Given the description of an element on the screen output the (x, y) to click on. 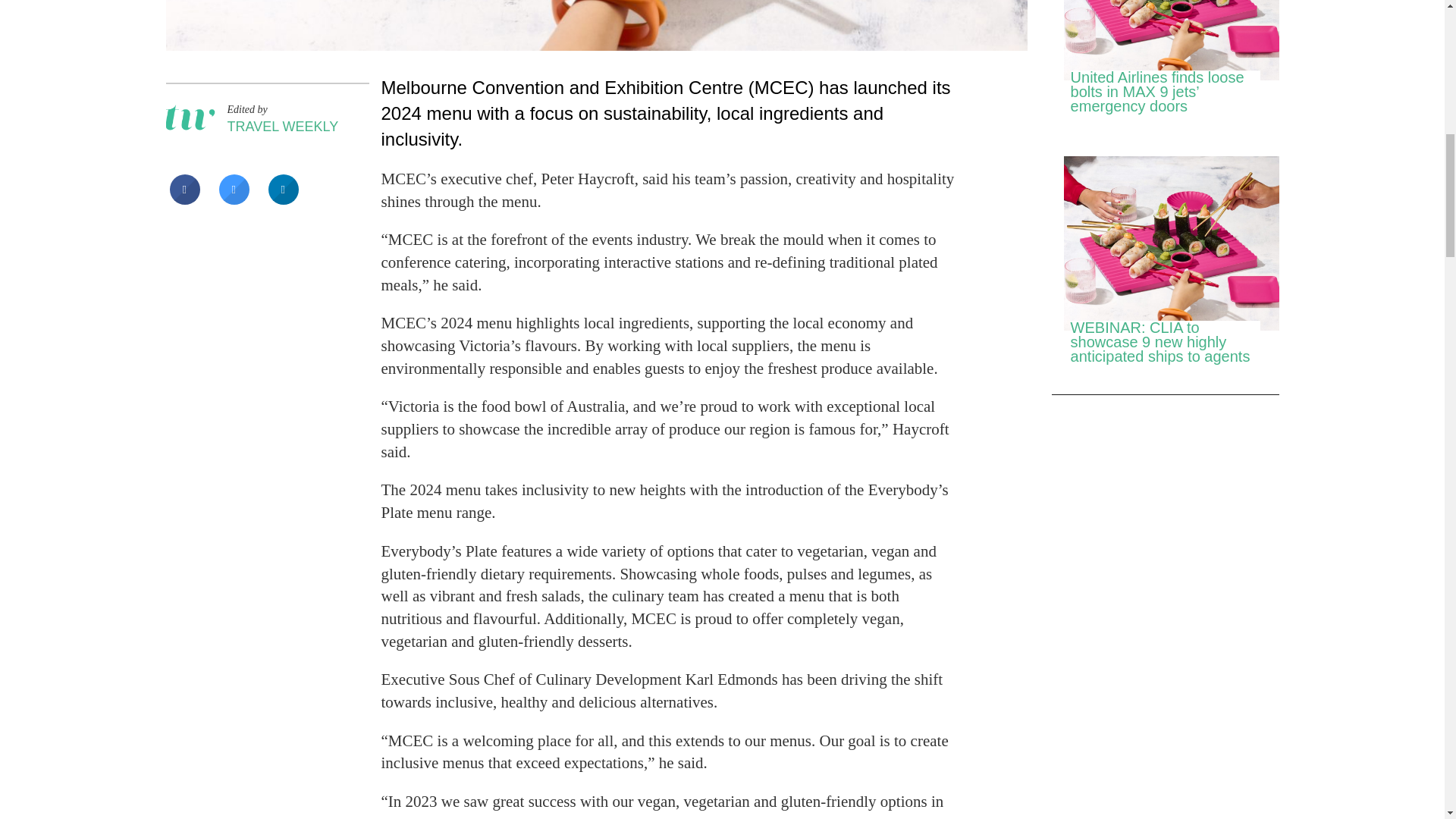
Share on Twitter (233, 200)
Share on Facebook (185, 200)
Share to LinkedIn (282, 200)
